Given the description of an element on the screen output the (x, y) to click on. 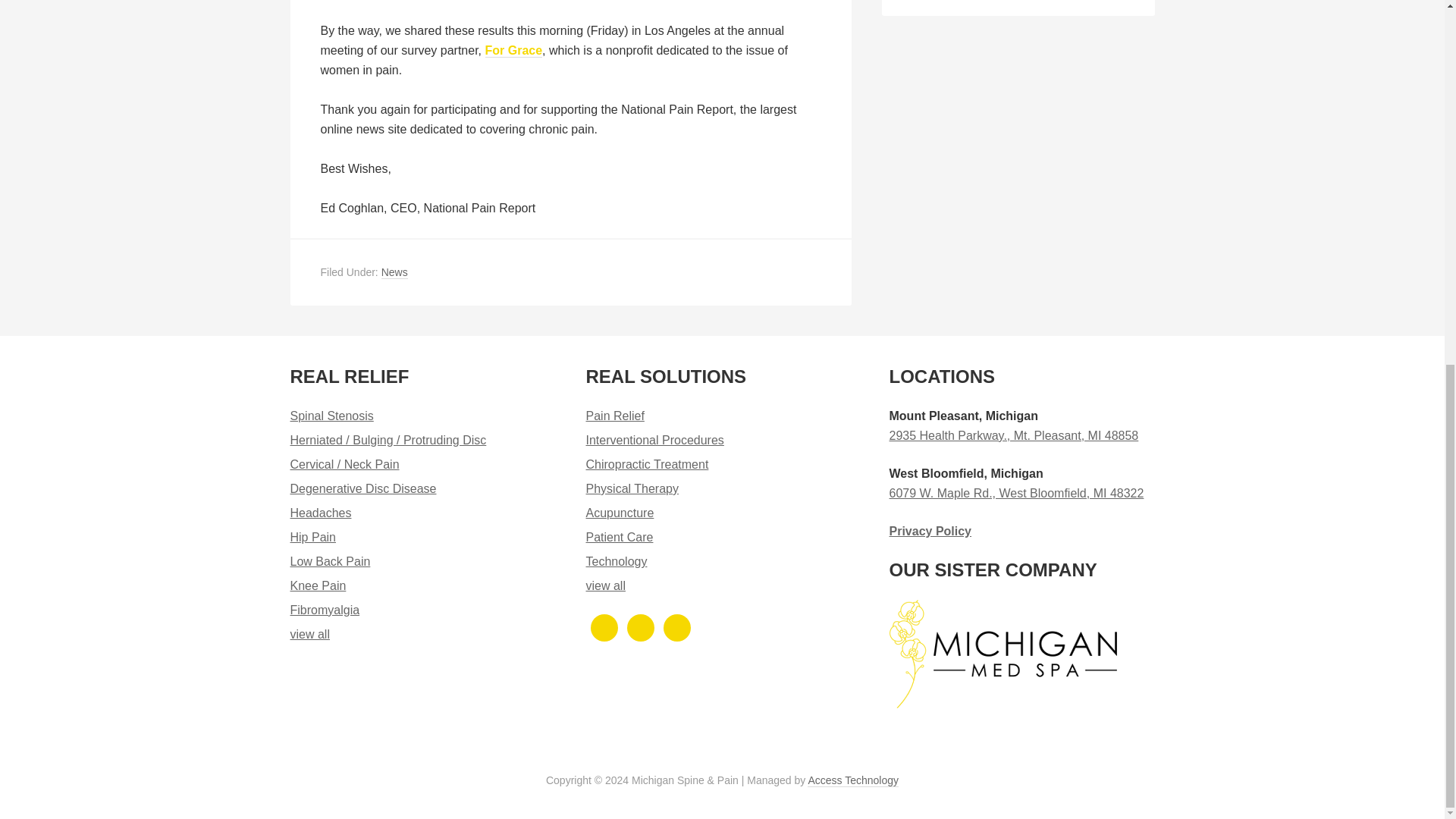
Interventional Procedures (654, 440)
Low Back Pain (329, 561)
Spinal Stenosis (330, 415)
Real Pain, Real Solutions (309, 634)
Fibromyalgia (324, 609)
Degenerative Disc Disease (362, 488)
Chiropractic Treatment (646, 463)
Hip Pain (311, 536)
Knee Pain (317, 585)
Headaches (319, 512)
